Given the description of an element on the screen output the (x, y) to click on. 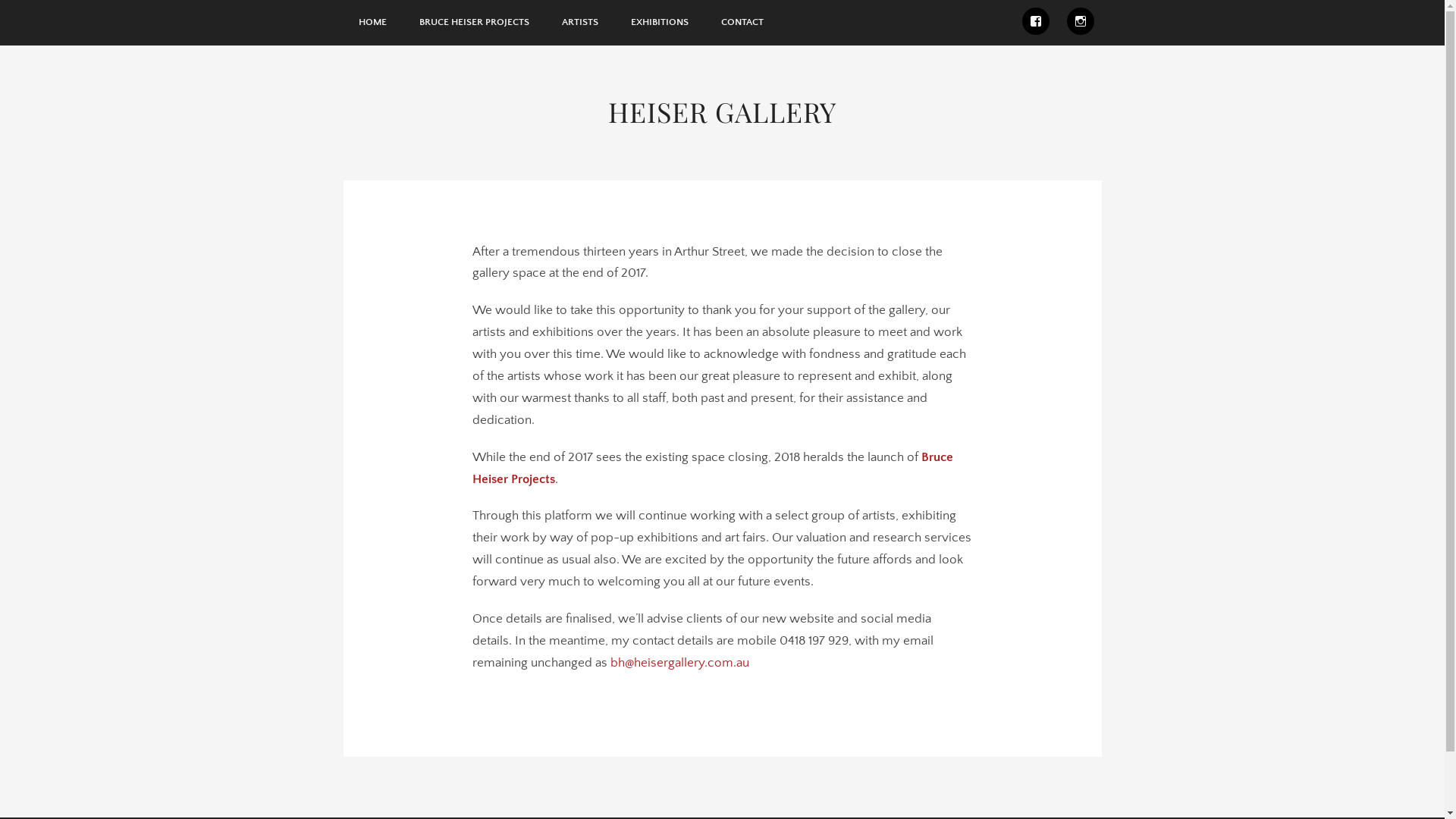
SKIP TO CONTENT Element type: text (55, 22)
FACEBOOK Element type: text (1035, 20)
Bruce Heiser Projects Element type: text (711, 468)
BRUCE HEISER PROJECTS Element type: text (473, 22)
EXHIBITIONS Element type: text (659, 22)
INSTAGRAM Element type: text (1079, 20)
bh@heisergallery.com.au Element type: text (678, 662)
HEISER GALLERY Element type: text (722, 110)
HOME Element type: text (371, 22)
CONTACT Element type: text (741, 22)
ARTISTS Element type: text (579, 22)
